Given the description of an element on the screen output the (x, y) to click on. 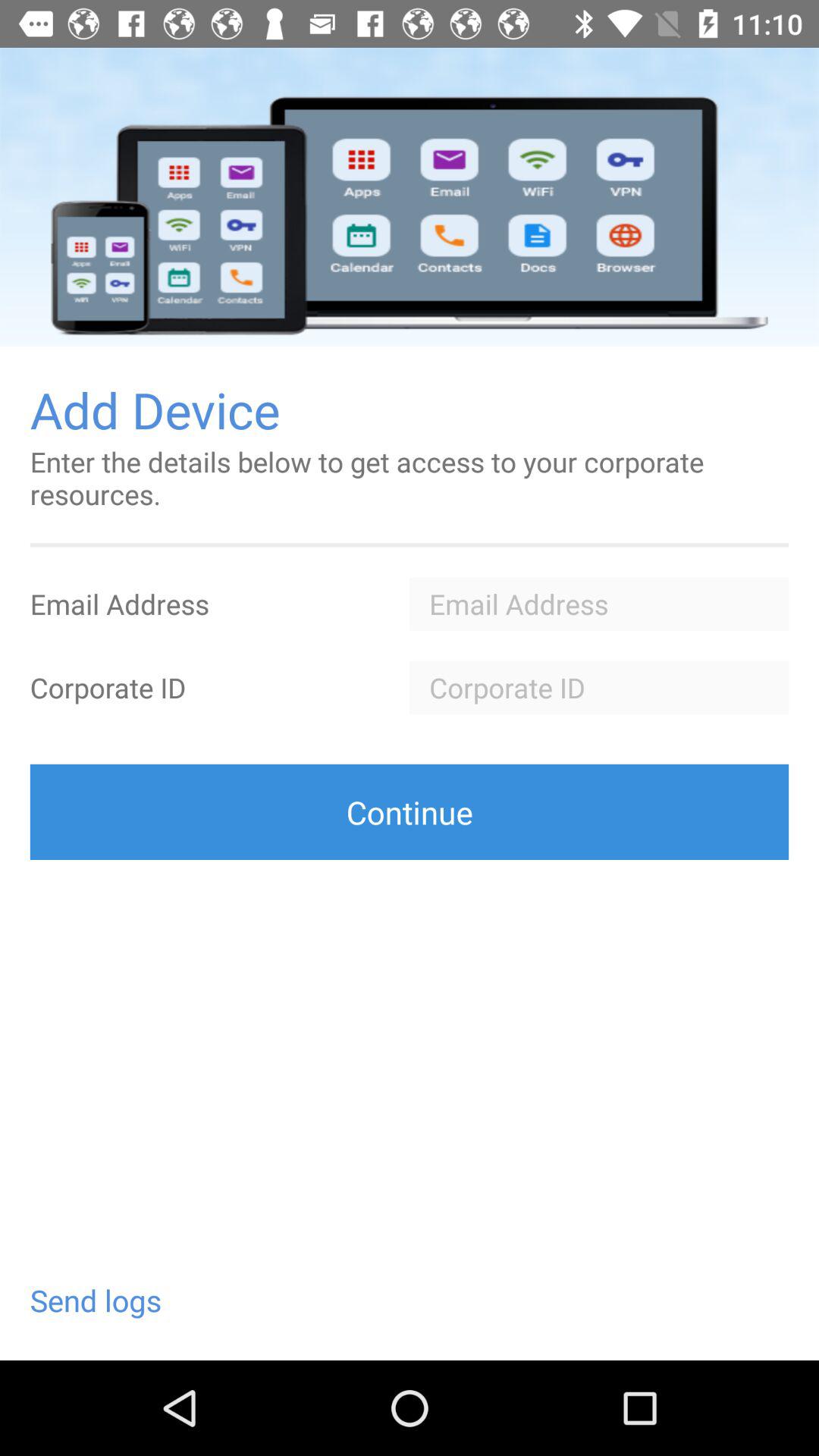
email input field (598, 603)
